Given the description of an element on the screen output the (x, y) to click on. 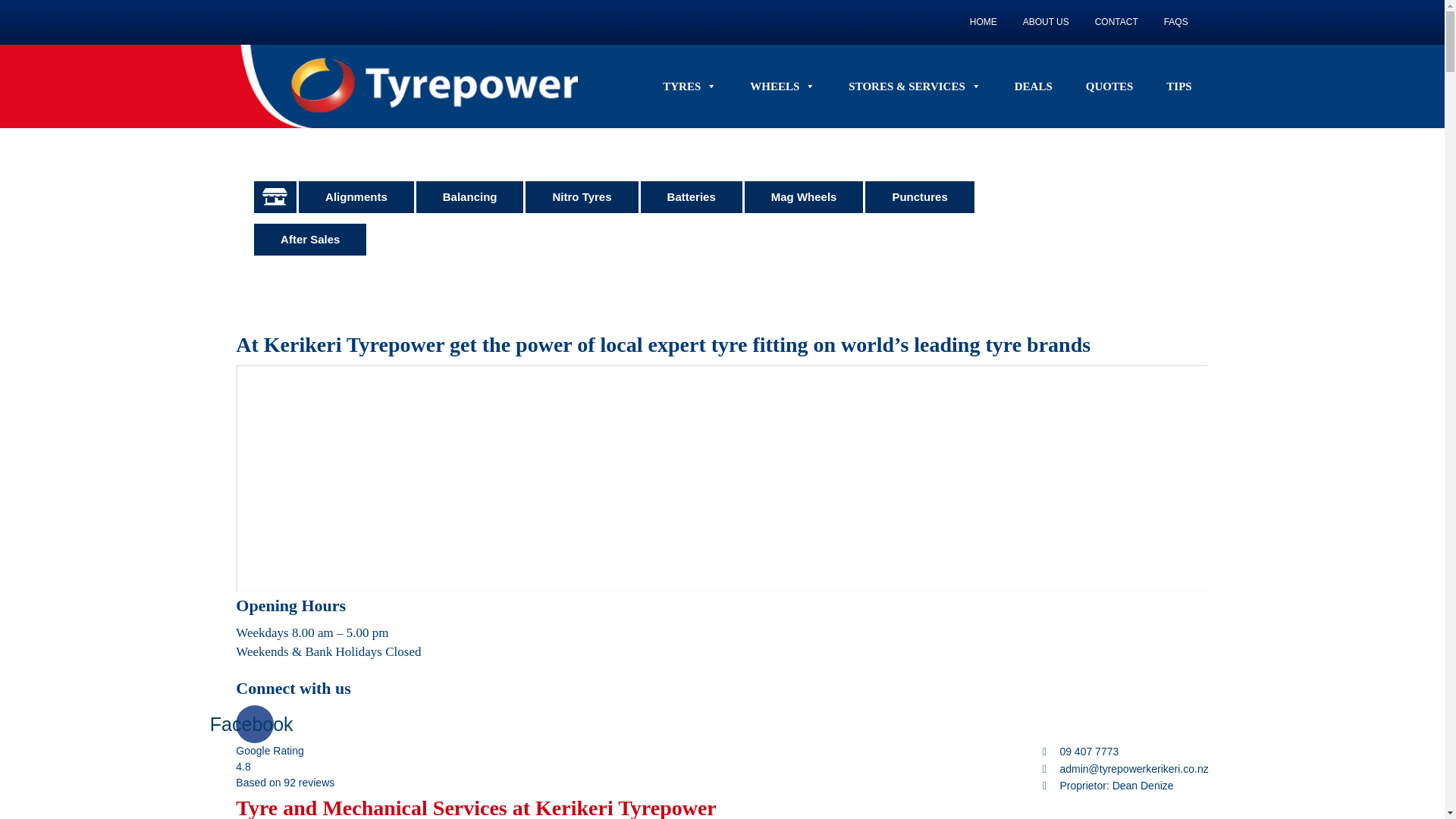
ABOUT US (1045, 21)
WHEELS (782, 86)
FAQS (1176, 21)
HOME (983, 21)
Tyrepower NZ (406, 86)
TYRES (689, 86)
CONTACT (1116, 21)
